Given the description of an element on the screen output the (x, y) to click on. 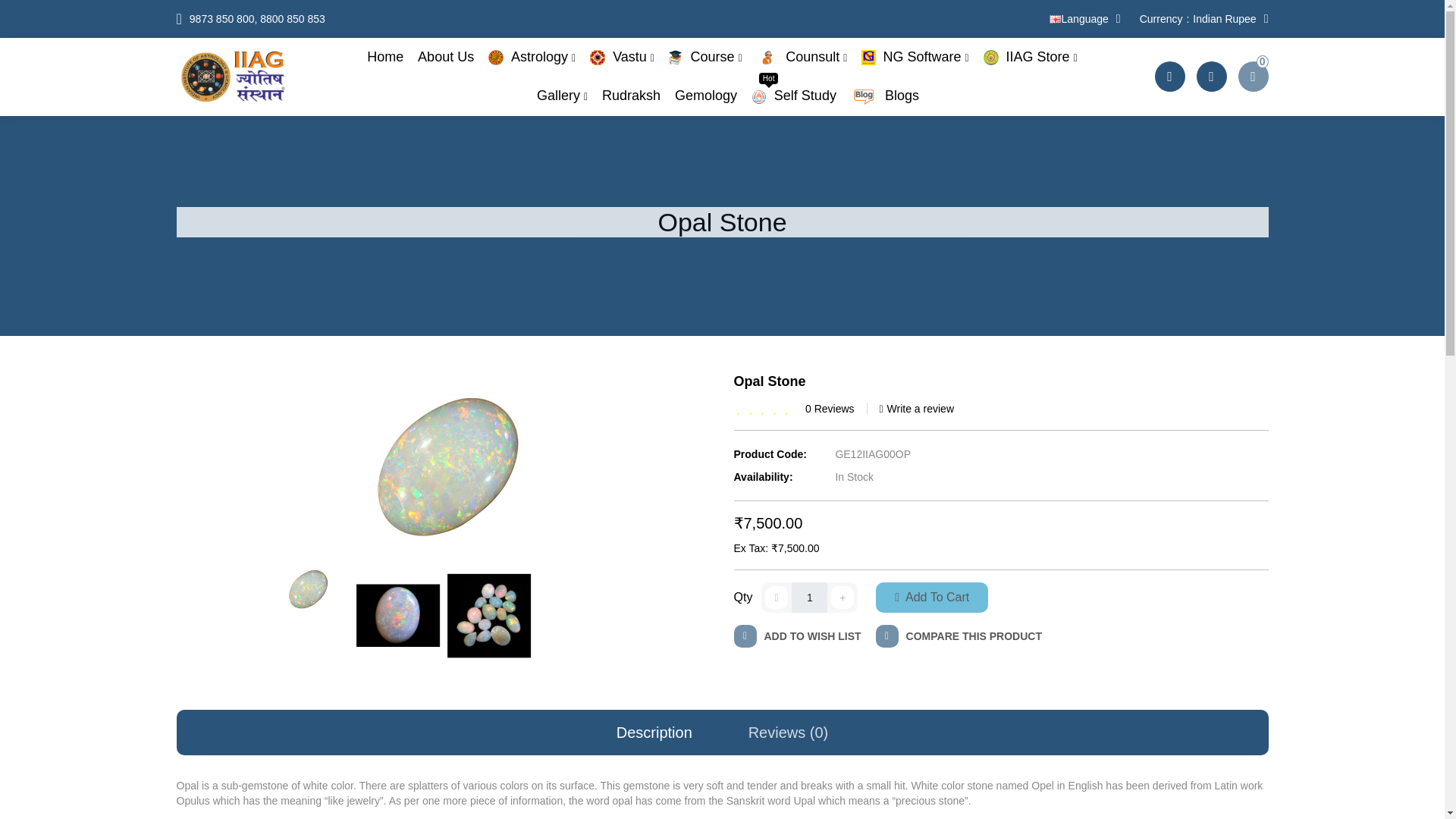
Astrology (1204, 18)
About Us (531, 56)
Opal Stone (445, 56)
English (443, 462)
1 (1055, 19)
Opal Stone (809, 597)
Opal Stone (488, 615)
Compare this Product (397, 615)
Opal Stone (966, 637)
Add to Wish List (306, 587)
9873 850 800, 8800 850 853 (804, 637)
Home (443, 18)
IIAG JYOTISH SANSTHAN (384, 56)
